Given the description of an element on the screen output the (x, y) to click on. 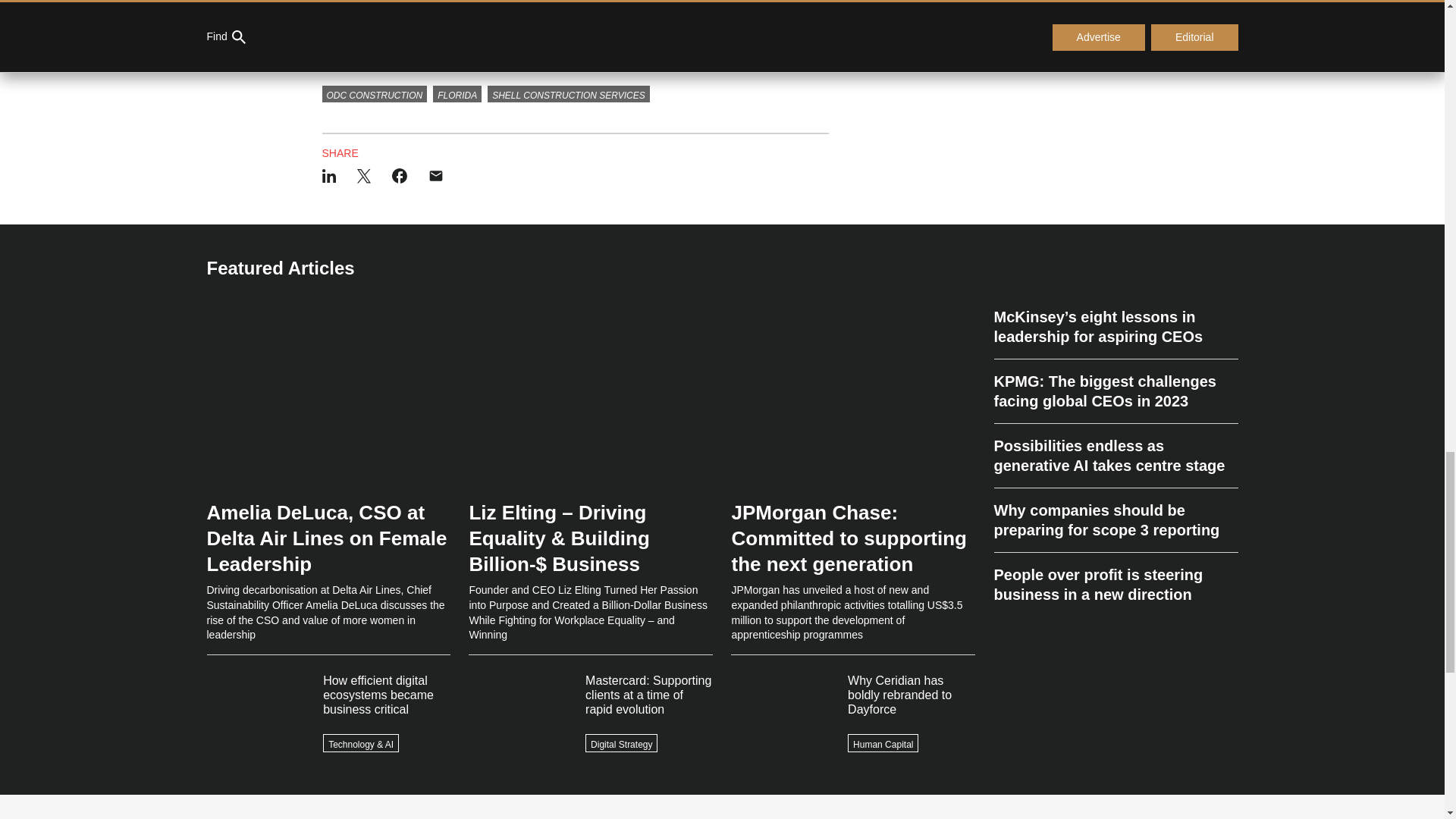
Why companies should be preparing for scope 3 reporting (1114, 520)
ODC CONSTRUCTION (373, 93)
FLORIDA (456, 93)
KPMG: The biggest challenges facing global CEOs in 2023 (1114, 391)
People over profit is steering business in a new direction (1114, 578)
SHELL CONSTRUCTION SERVICES (568, 93)
Possibilities endless as generative AI takes centre stage (1114, 456)
